Given the description of an element on the screen output the (x, y) to click on. 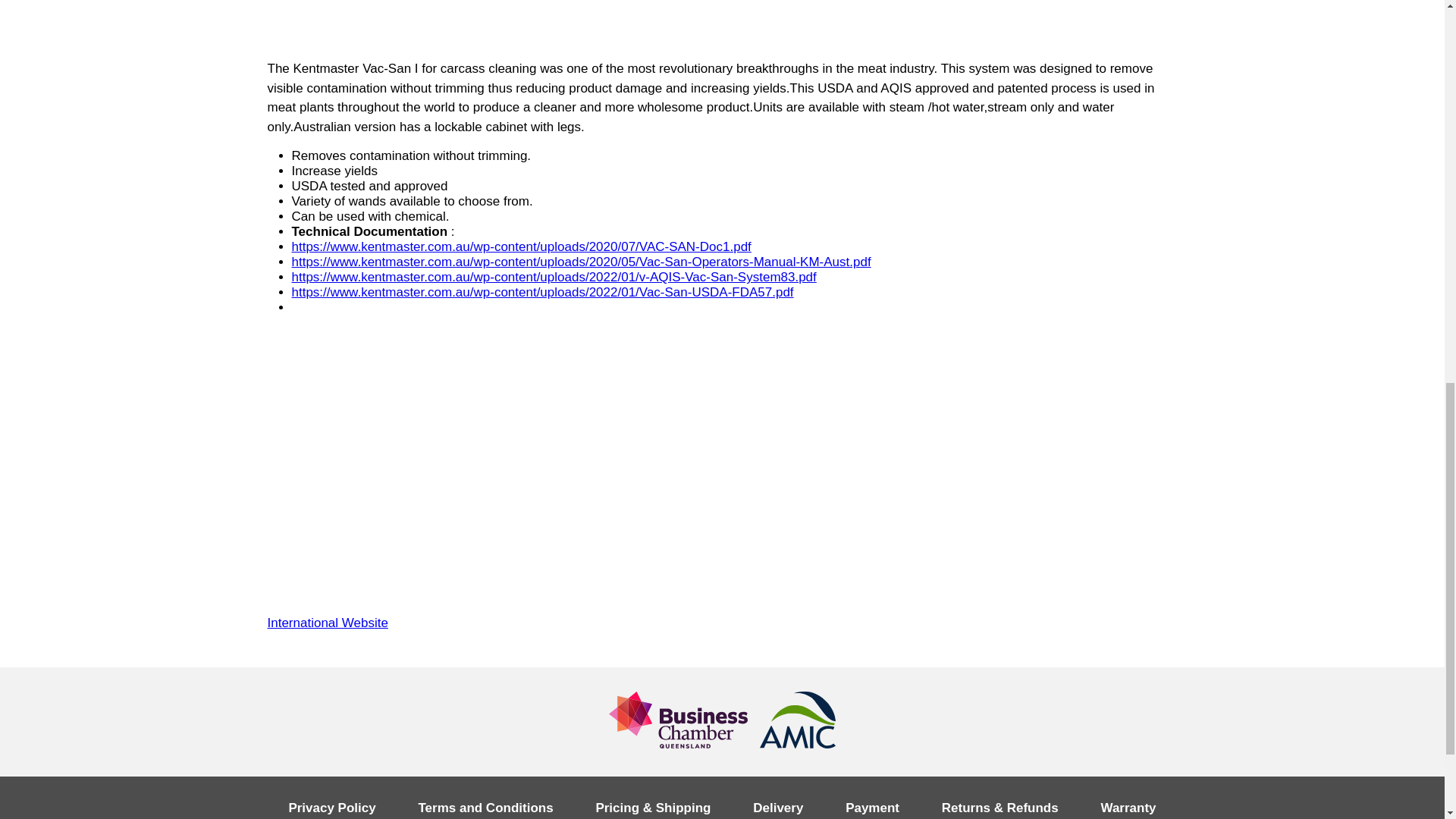
Australian Meat Industry Council (797, 719)
Business Chamber Queensland (678, 721)
Send (958, 6)
Kentmaster - VAC-SAN (721, 27)
Australian Meat Industry Council (797, 721)
Business Chamber Queensland (678, 719)
